Given the description of an element on the screen output the (x, y) to click on. 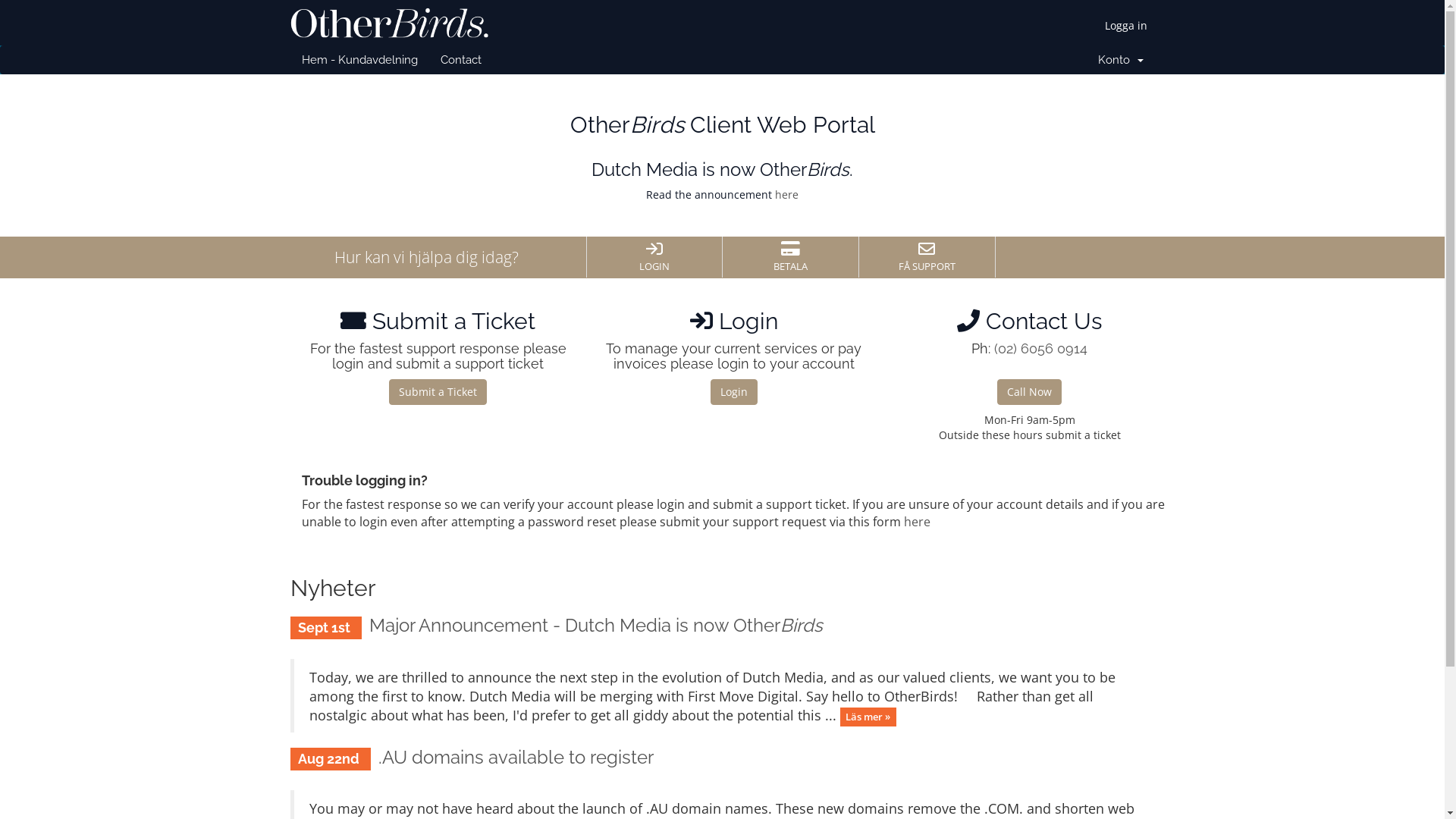
Logga in Element type: text (1125, 25)
here Element type: text (786, 194)
LOGIN Element type: text (653, 256)
Contact Element type: text (460, 59)
Hem - Kundavdelning Element type: text (358, 59)
.AU domains available to register Element type: text (515, 757)
here Element type: text (916, 521)
Call Now Element type: text (1029, 391)
Konto   Element type: text (1119, 59)
BETALA Element type: text (790, 256)
Login Element type: text (732, 391)
Submit a Ticket Element type: text (437, 391)
(02) 6056 0914 Element type: text (1040, 348)
Major Announcement - Dutch Media is now OtherBirds Element type: text (595, 625)
